Given the description of an element on the screen output the (x, y) to click on. 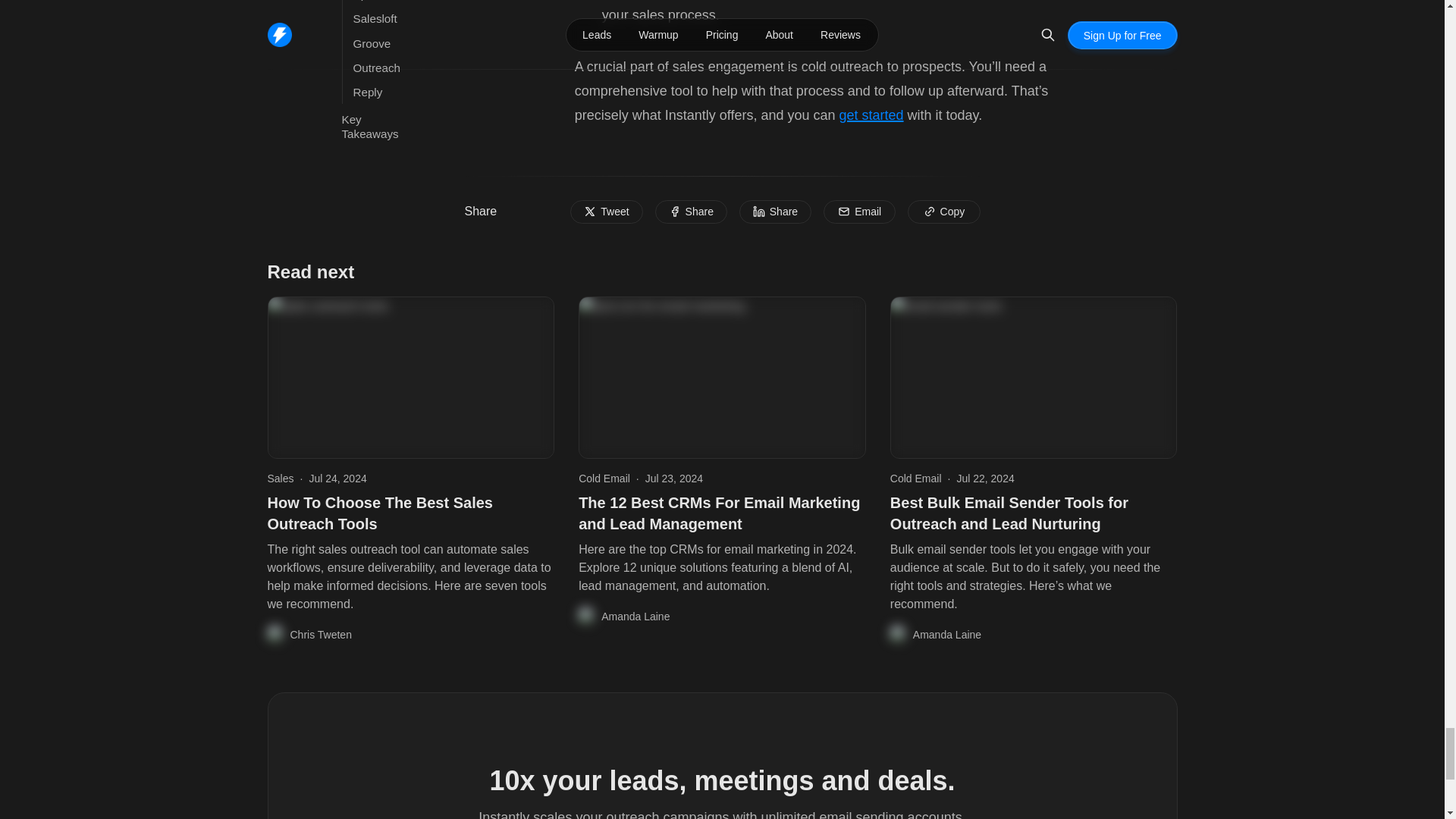
Share on Facebook (690, 211)
Share (690, 211)
get started (870, 114)
Share by email (859, 211)
Tweet (606, 211)
Share on Linkedin (774, 211)
Share on Twitter (606, 211)
Copy URL (943, 211)
